Given the description of an element on the screen output the (x, y) to click on. 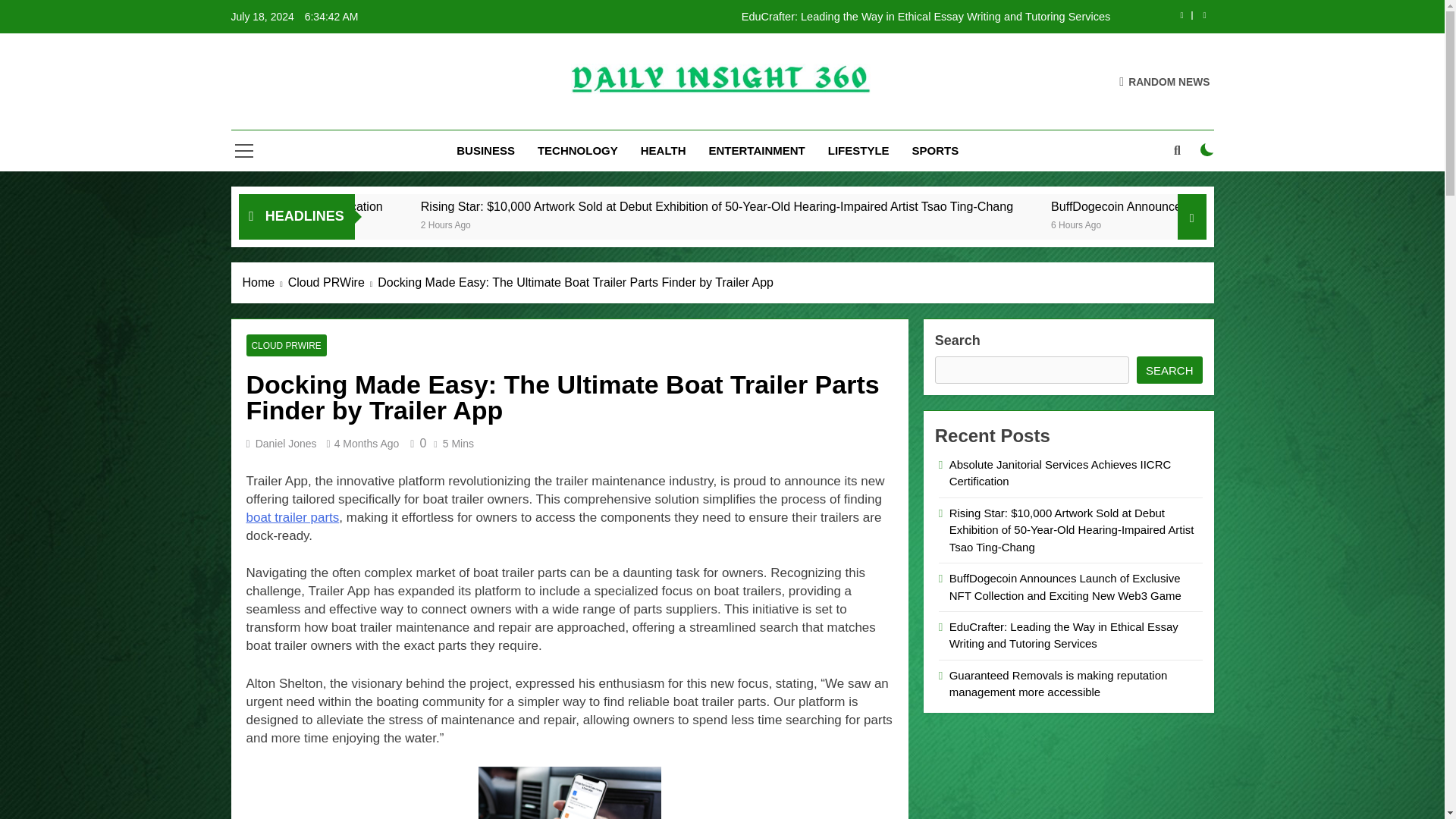
2 Hours Ago (636, 223)
SPORTS (936, 150)
Absolute Janitorial Services Achieves IICRC Certification (430, 206)
Absolute Janitorial Services Achieves IICRC Certification (372, 206)
LIFESTYLE (858, 150)
BUSINESS (485, 150)
Daily Insight 360 (604, 116)
ENTERTAINMENT (756, 150)
RANDOM NEWS (1164, 80)
HEALTH (662, 150)
TECHNOLOGY (576, 150)
on (1206, 150)
